Given the description of an element on the screen output the (x, y) to click on. 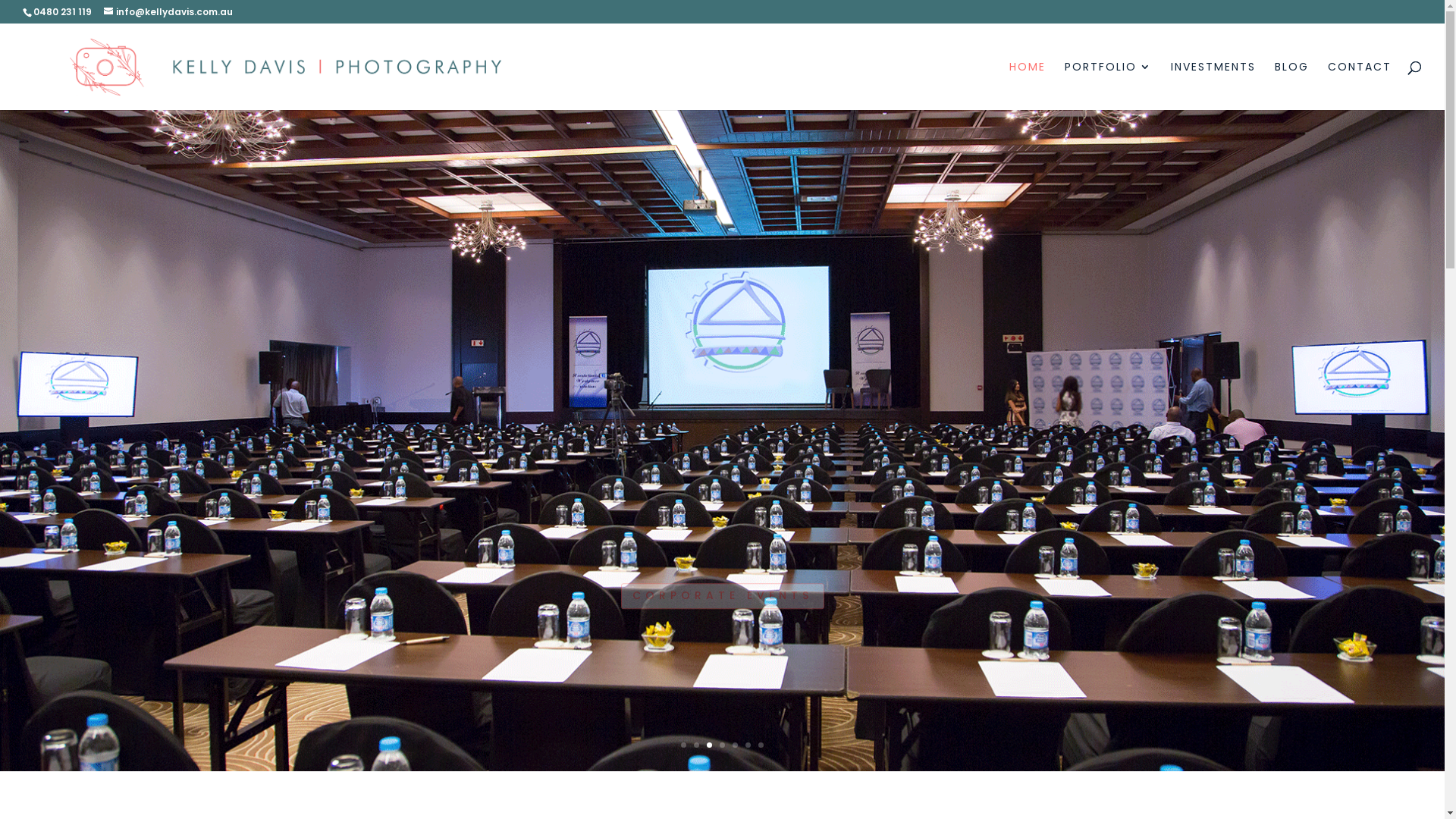
3 Element type: text (709, 744)
HOME Element type: text (1027, 85)
INVESTMENTS Element type: text (1212, 85)
1 Element type: text (683, 744)
CONTACT Element type: text (1359, 85)
7 Element type: text (760, 744)
6 Element type: text (747, 744)
info@kellydavis.com.au Element type: text (167, 11)
5 Element type: text (734, 744)
BLOG Element type: text (1291, 85)
4 Element type: text (721, 744)
WEDDINGS Element type: text (722, 554)
PORTFOLIO Element type: text (1107, 85)
2 Element type: text (696, 744)
